Given the description of an element on the screen output the (x, y) to click on. 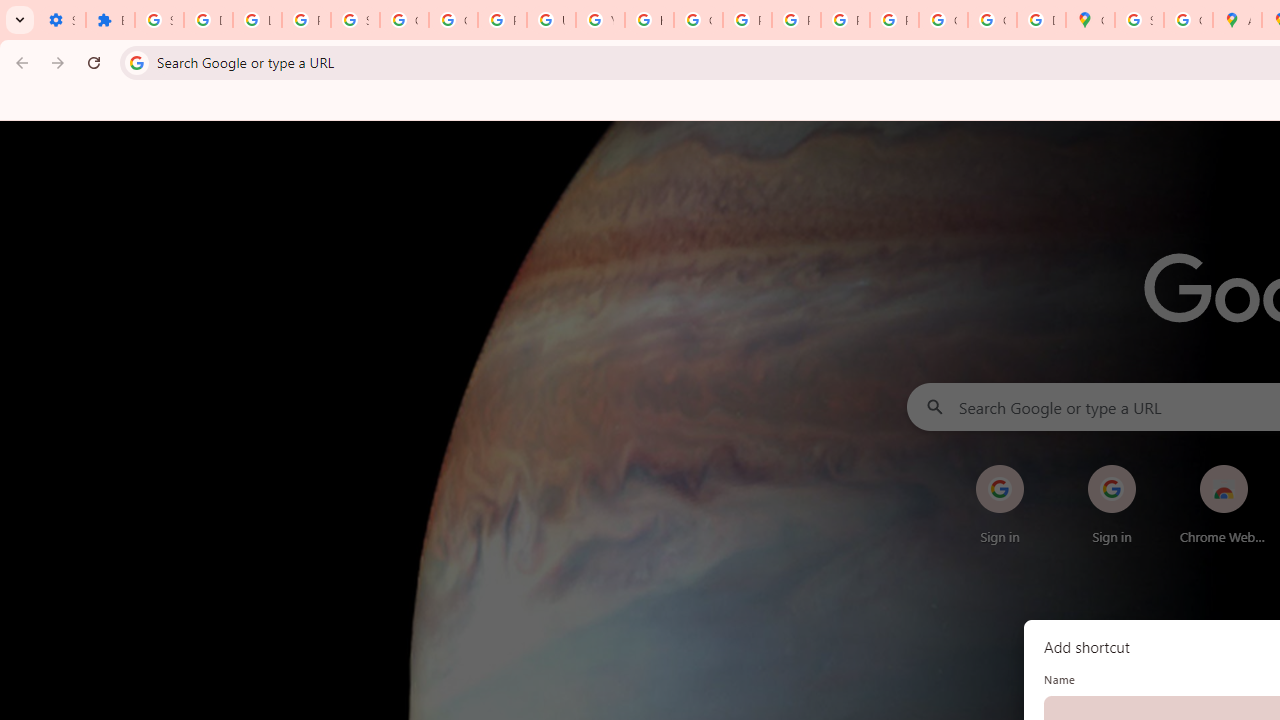
Google Account Help (404, 20)
Create your Google Account (1188, 20)
Delete photos & videos - Computer - Google Photos Help (208, 20)
Settings - On startup (61, 20)
Sign in - Google Accounts (355, 20)
Sign in - Google Accounts (159, 20)
Privacy Help Center - Policies Help (747, 20)
